Given the description of an element on the screen output the (x, y) to click on. 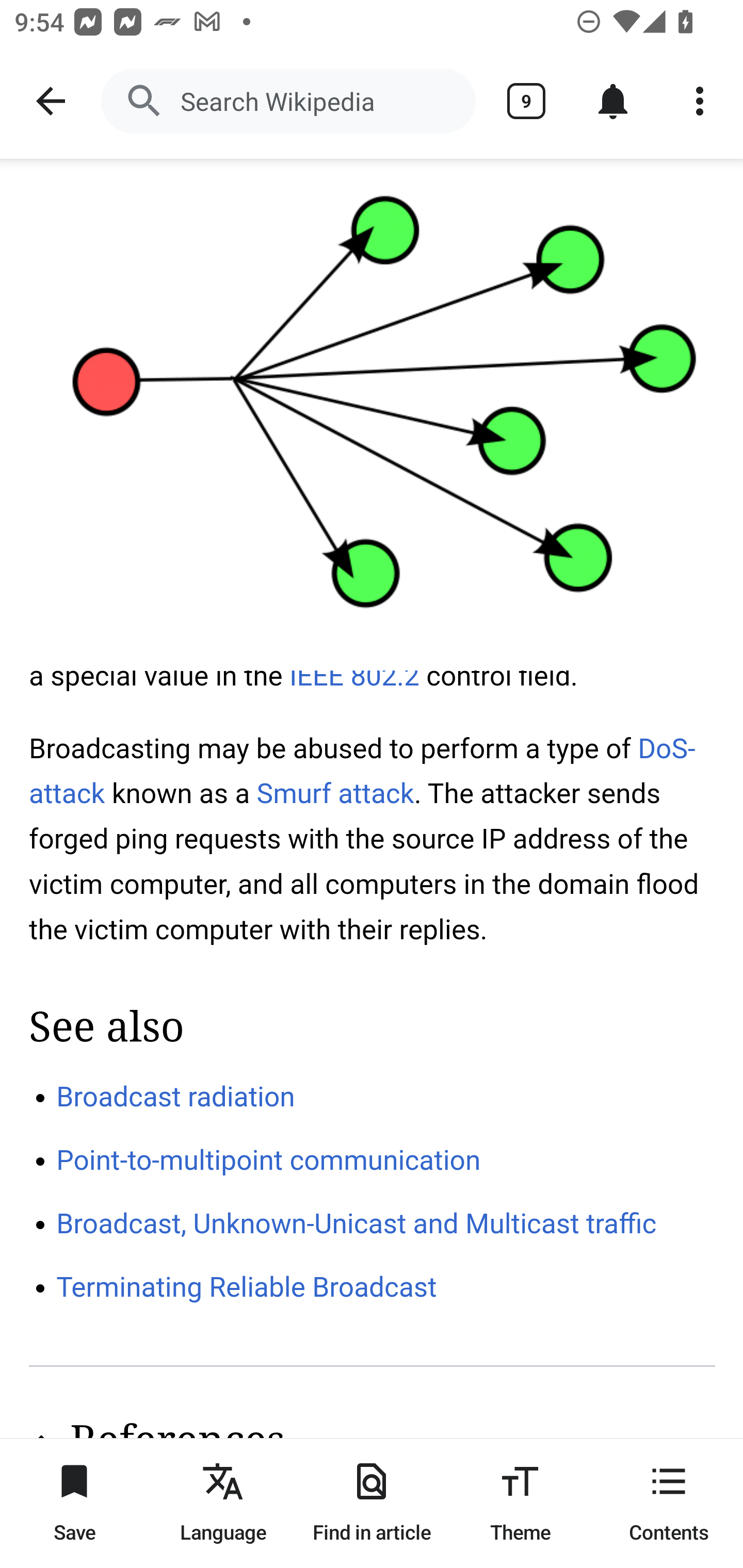
Show tabs 9 (525, 100)
Notifications (612, 100)
Navigate up (50, 101)
More options (699, 101)
Search Wikipedia (288, 100)
Image: Broadcasting (networking) (371, 414)
DoS-attack (362, 770)
Smurf attack (335, 793)
Broadcast radiation (175, 1095)
Point-to-multipoint communication (268, 1160)
Broadcast, Unknown-Unicast and Multicast traffic (356, 1222)
Terminating Reliable Broadcast (246, 1287)
Save (74, 1502)
Language (222, 1502)
Find in article (371, 1502)
Theme (519, 1502)
Contents (668, 1502)
